Given the description of an element on the screen output the (x, y) to click on. 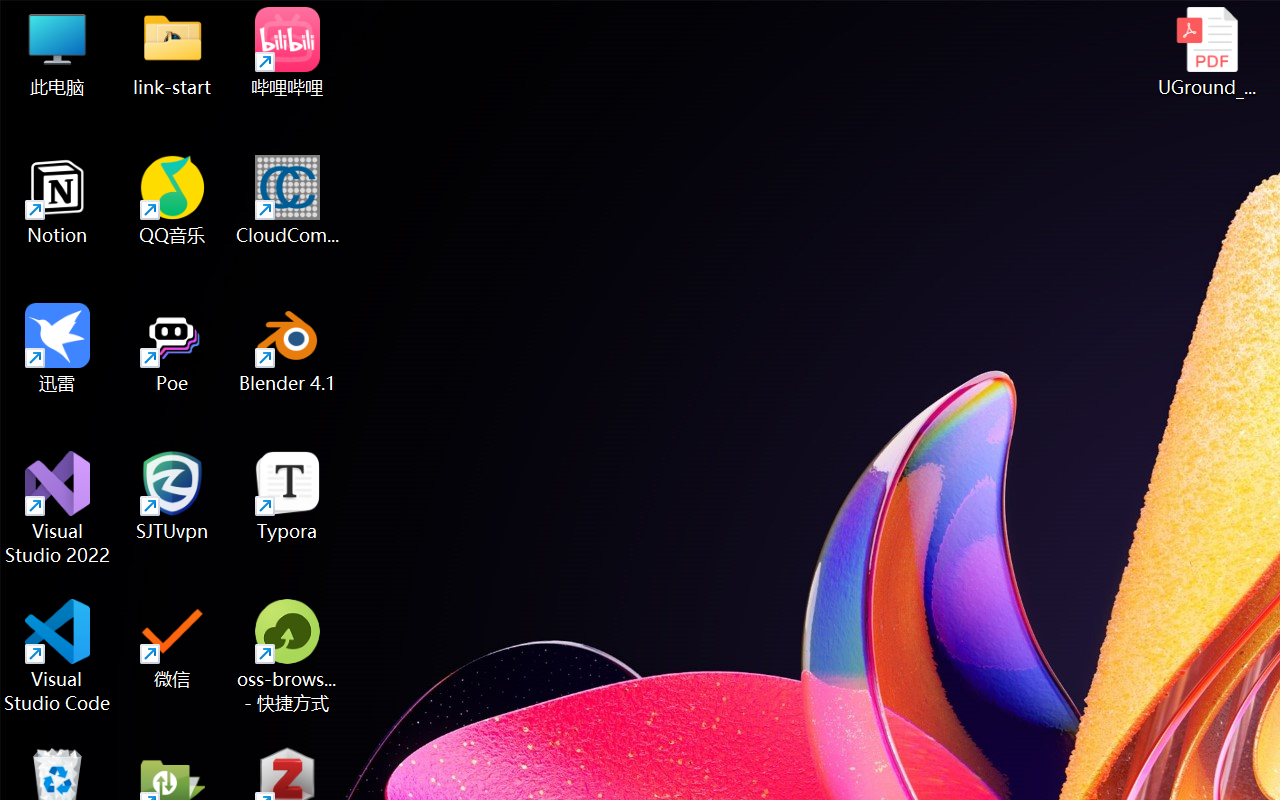
Visual Studio Code (57, 656)
Typora (287, 496)
CloudCompare (287, 200)
SJTUvpn (172, 496)
Blender 4.1 (287, 348)
UGround_paper.pdf (1206, 52)
Visual Studio 2022 (57, 508)
